Given the description of an element on the screen output the (x, y) to click on. 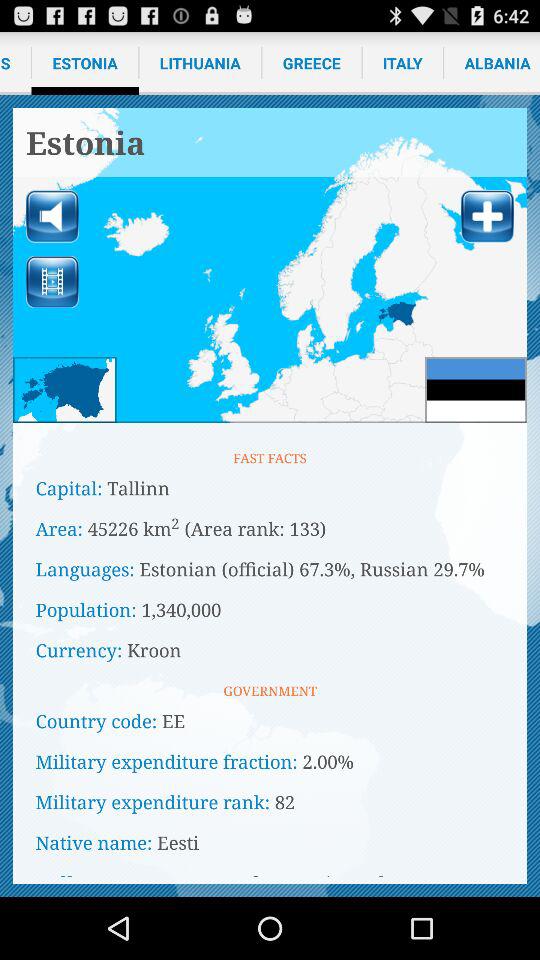
area button (64, 389)
